Given the description of an element on the screen output the (x, y) to click on. 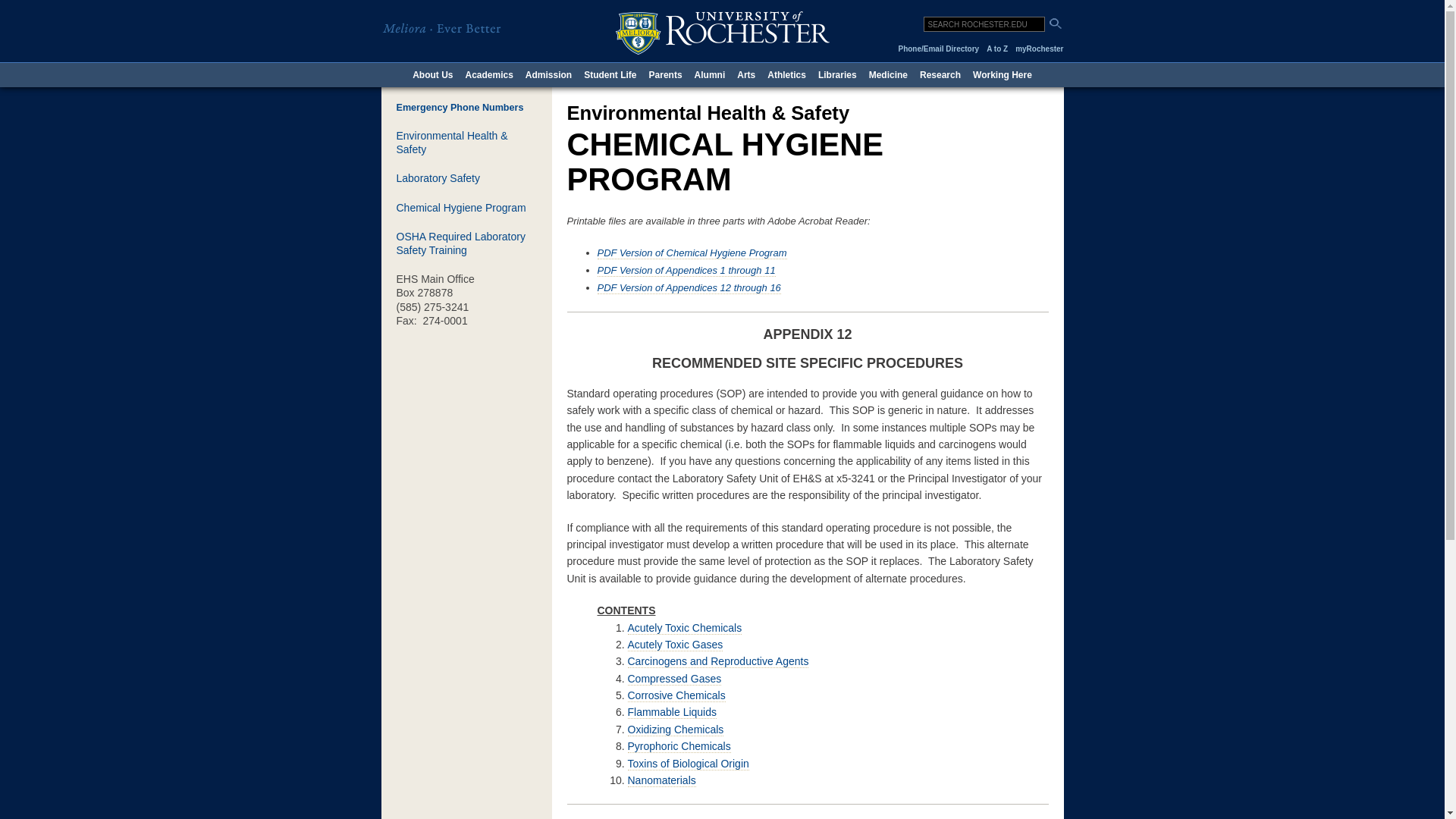
Working Here (1002, 74)
A to Z (997, 49)
Libraries (837, 74)
myRochester (1038, 49)
Medicine (888, 74)
Academics (488, 74)
PDF Version of Appendices 1 through 11 (686, 270)
Acutely Toxic Gases (675, 644)
PDF Version of Appendices 12 through 16 (688, 287)
Research (940, 74)
Corrosive Chemicals (676, 695)
Acutely Toxic Chemicals (684, 627)
PDF Version of Chemical Hygiene Program (691, 253)
Alumni (710, 74)
Carcinogens and Reproductive Agents (718, 661)
